Given the description of an element on the screen output the (x, y) to click on. 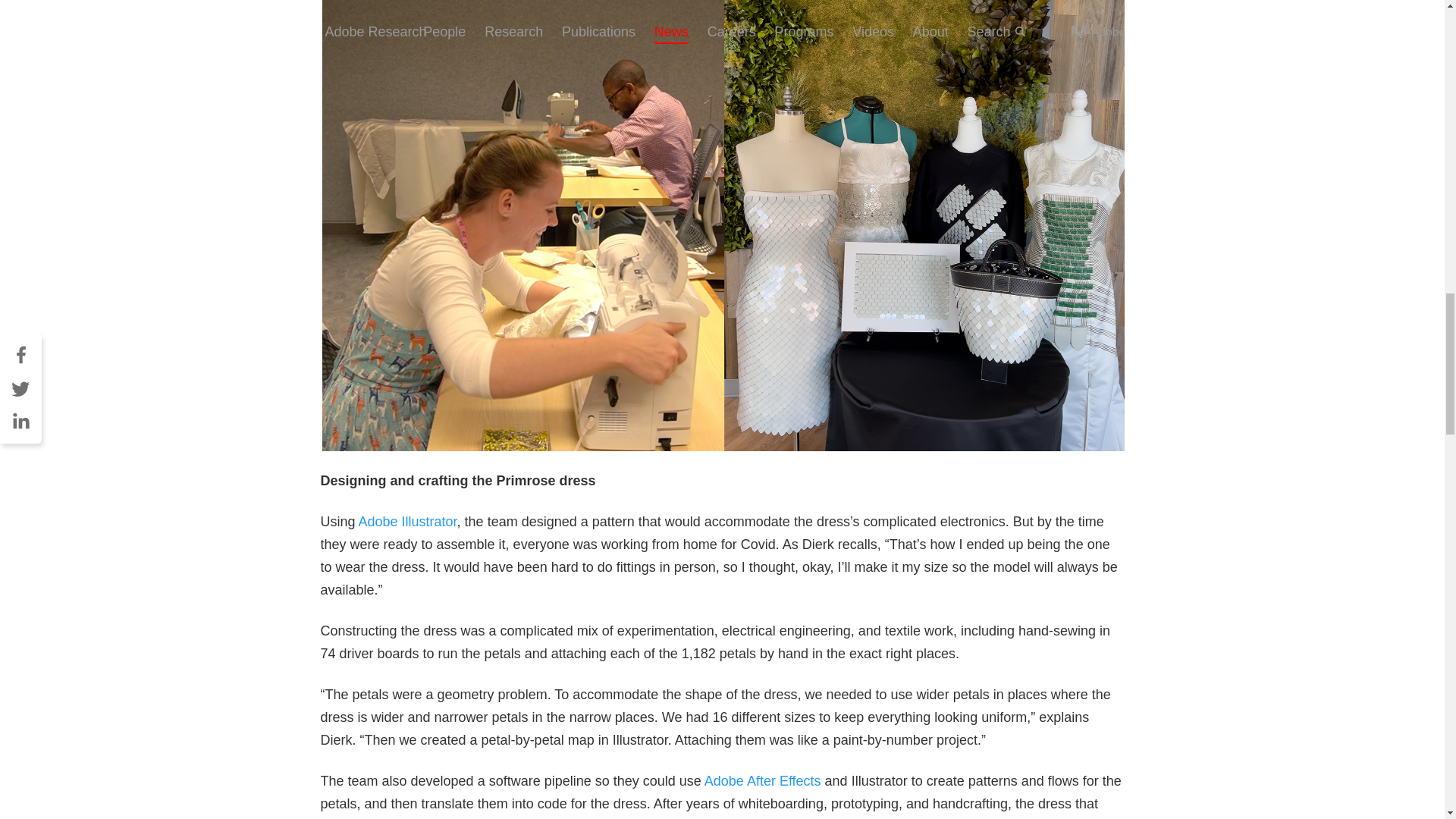
Adobe After Effects (762, 780)
Adobe Illustrator (407, 521)
